Given the description of an element on the screen output the (x, y) to click on. 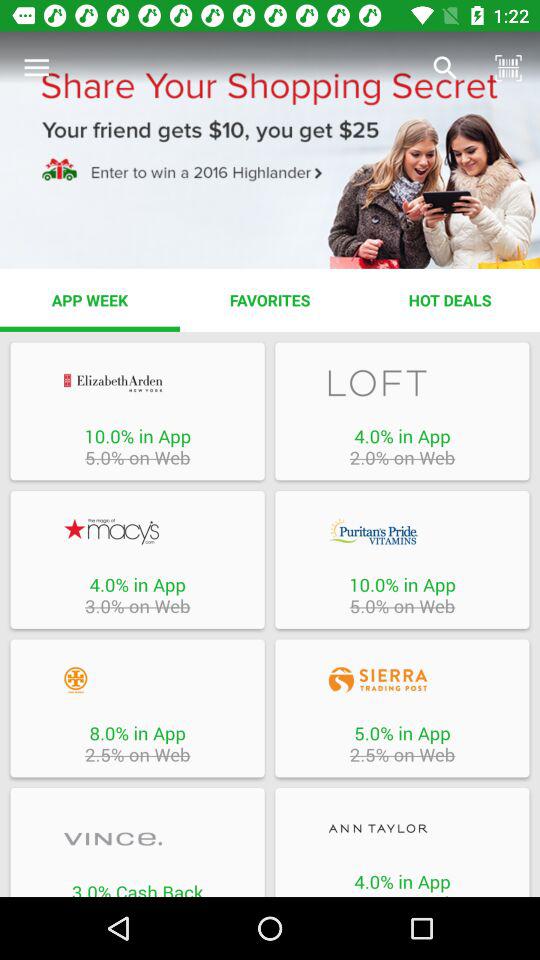
view brand collection (137, 838)
